Given the description of an element on the screen output the (x, y) to click on. 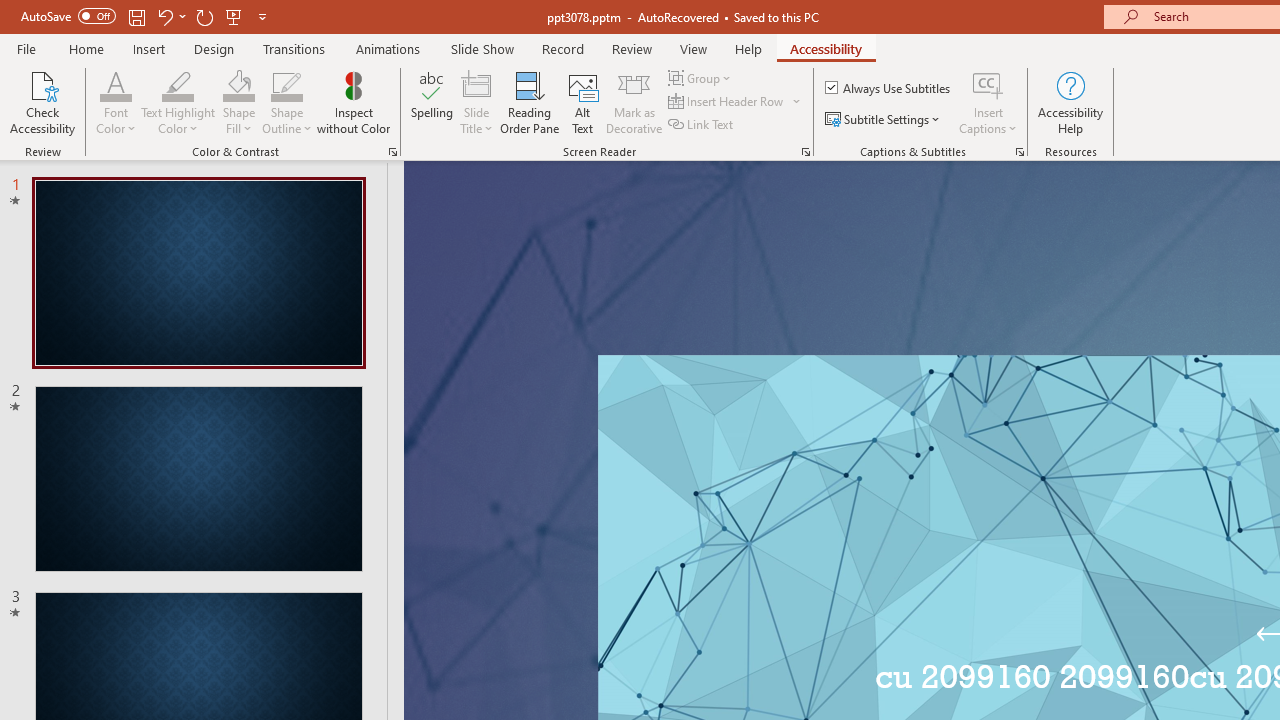
Inspect without Color (353, 102)
Insert Header Row (727, 101)
Group (701, 78)
Accessibility Help (1070, 102)
